Given the description of an element on the screen output the (x, y) to click on. 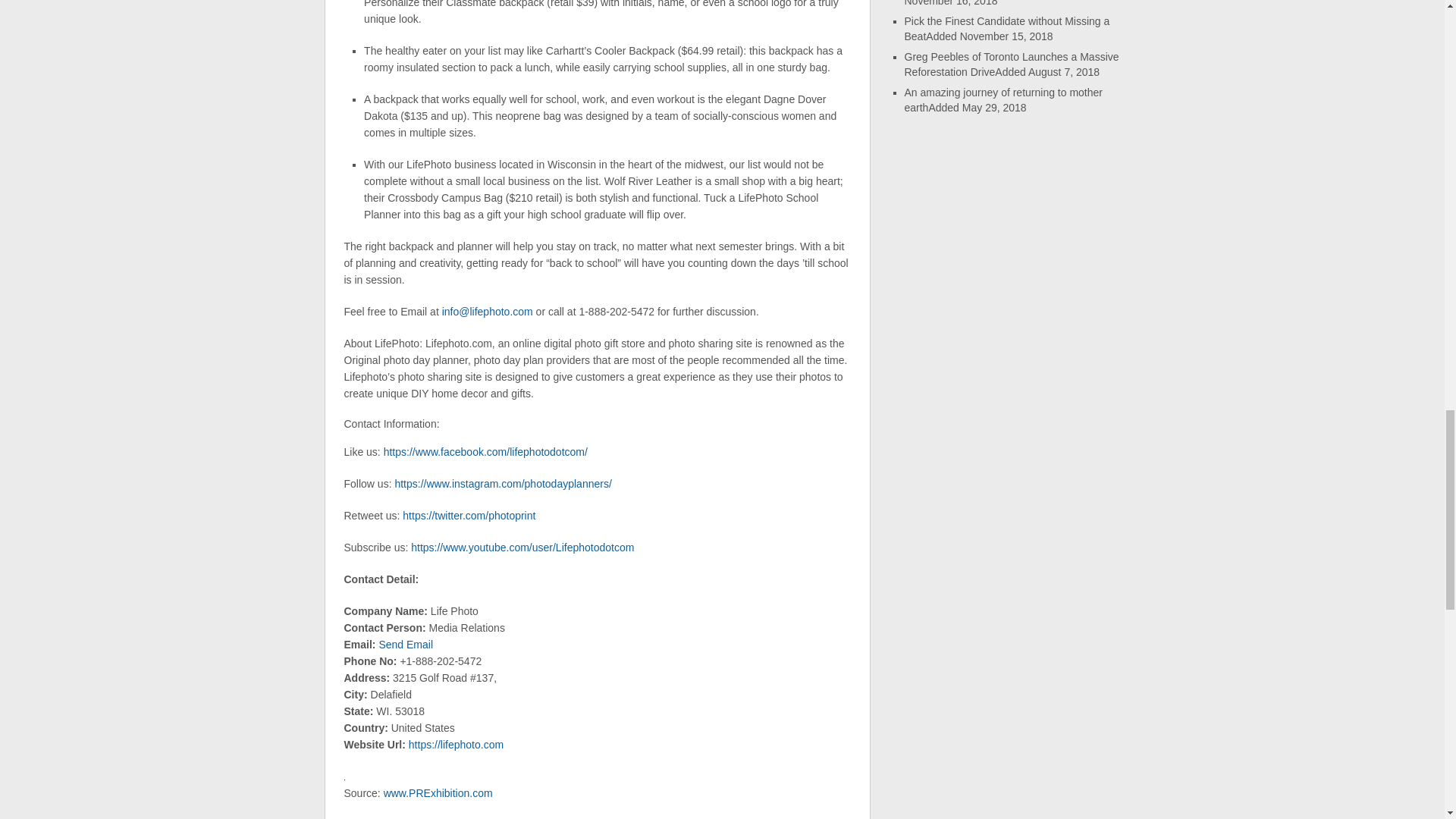
Send Email (405, 644)
www.PRExhibition.com (438, 793)
